Given the description of an element on the screen output the (x, y) to click on. 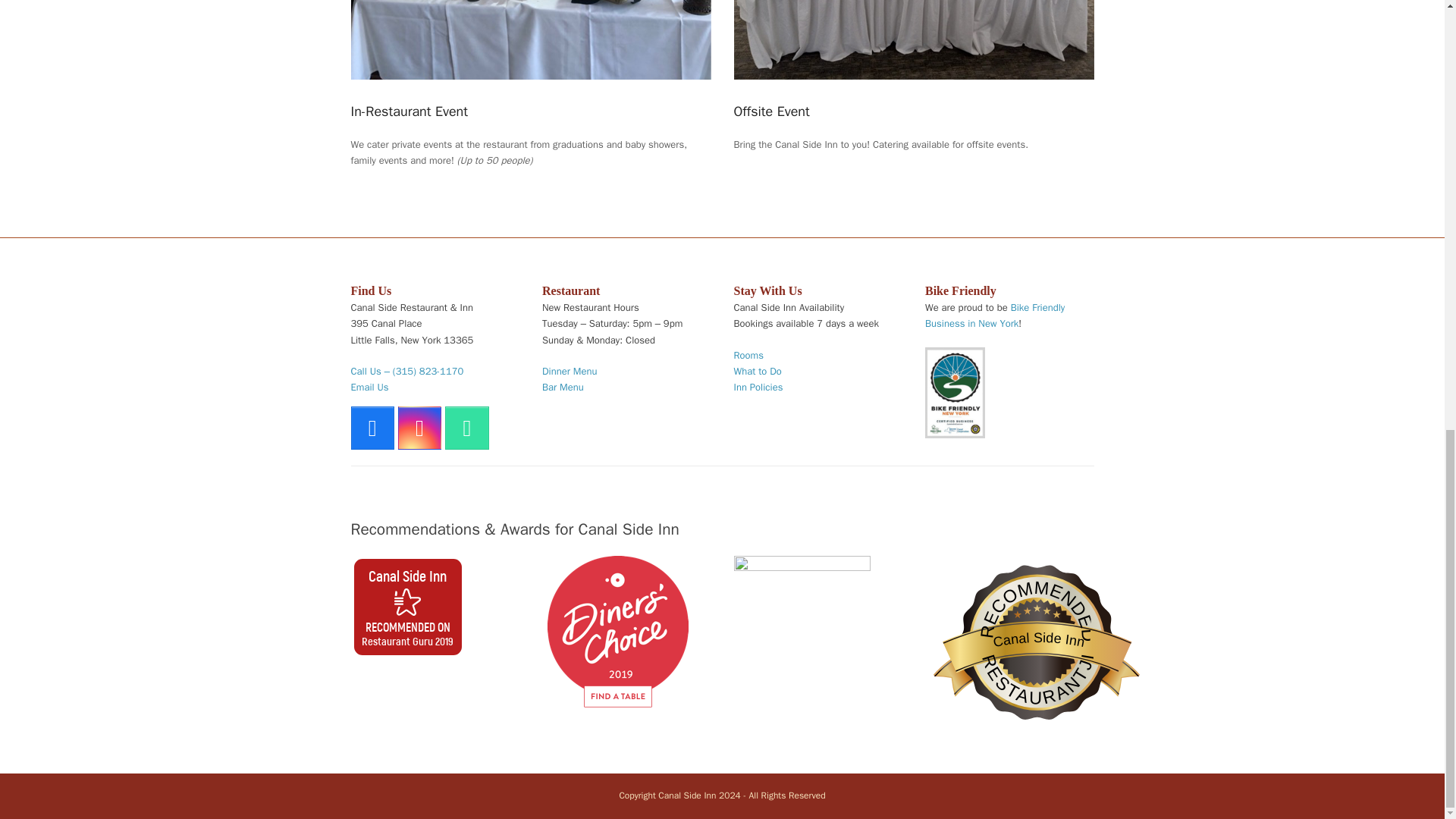
Instagram (419, 427)
bikefriendly-erie-canal-sm-4 (954, 392)
Tripadvisor (466, 427)
RECOMMENDED (1029, 629)
Facebook (371, 427)
Email Us (369, 386)
in-restaurant-4 (530, 39)
offsite-event (913, 39)
Bike Friendly Business in New York (994, 315)
What to Do (757, 370)
Bar Menu (562, 386)
Tripadvisor (466, 427)
Instagram (419, 427)
Facebook (371, 427)
Canal Side Inn (407, 575)
